Given the description of an element on the screen output the (x, y) to click on. 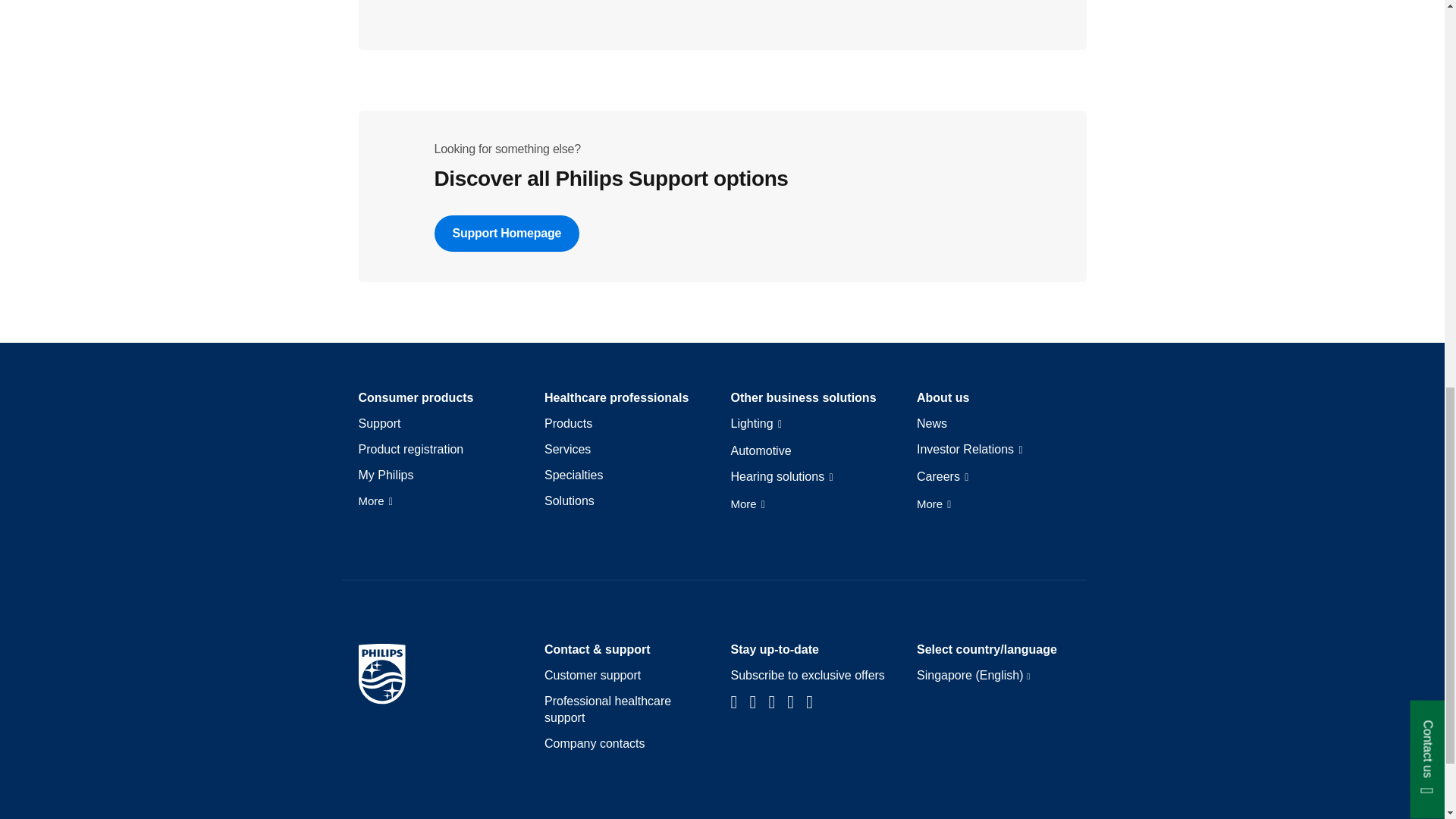
Products (568, 423)
About us (943, 397)
Services (567, 449)
Product registration (410, 449)
Solutions (569, 501)
Consumer products (415, 397)
Support (379, 423)
Automotive (761, 451)
Specialties (573, 475)
Healthcare professionals (616, 397)
My Philips (385, 475)
